Given the description of an element on the screen output the (x, y) to click on. 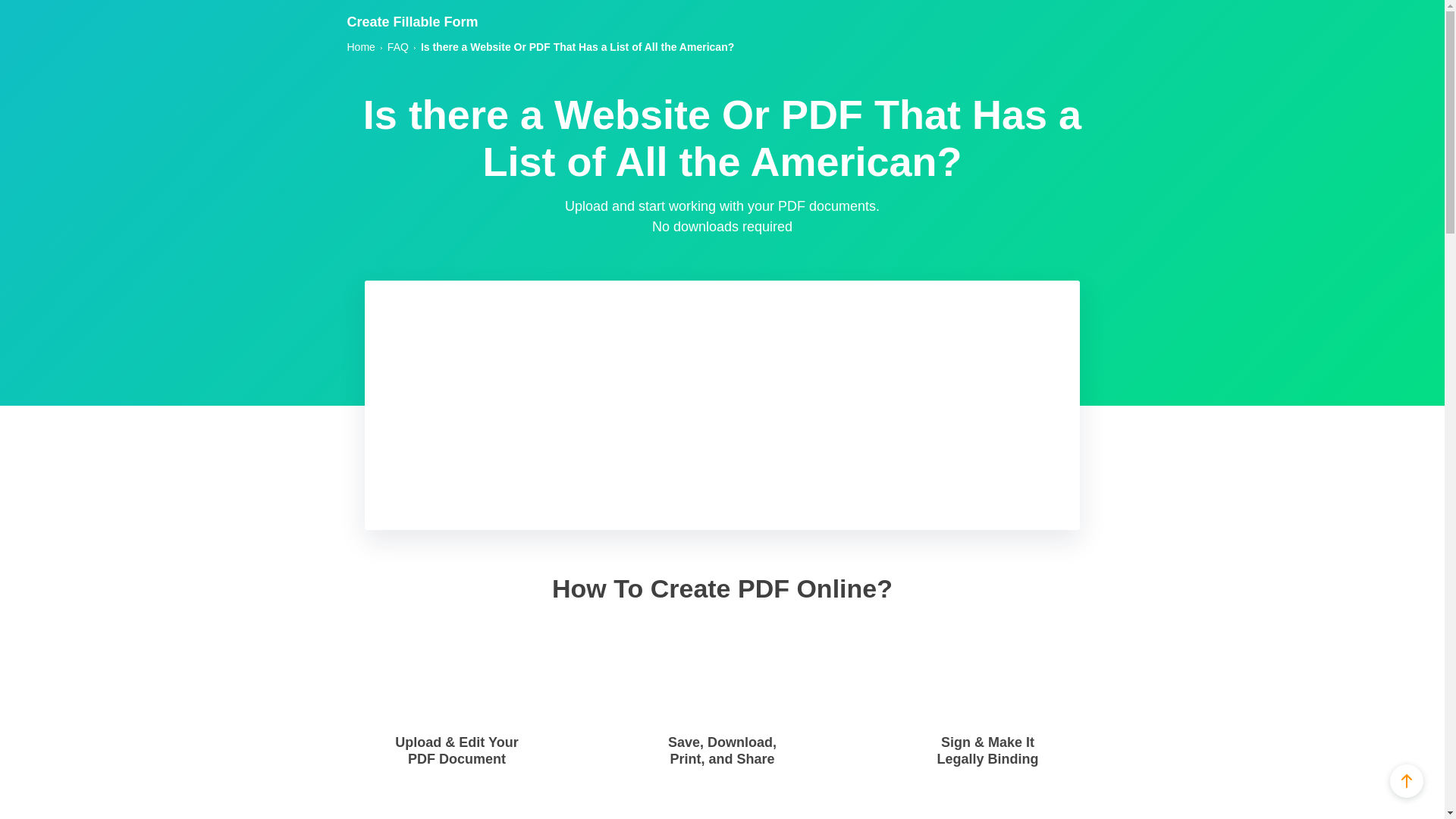
FAQ (398, 46)
Home (361, 46)
Scroll Up (1406, 780)
Create Fillable Form (413, 21)
